Given the description of an element on the screen output the (x, y) to click on. 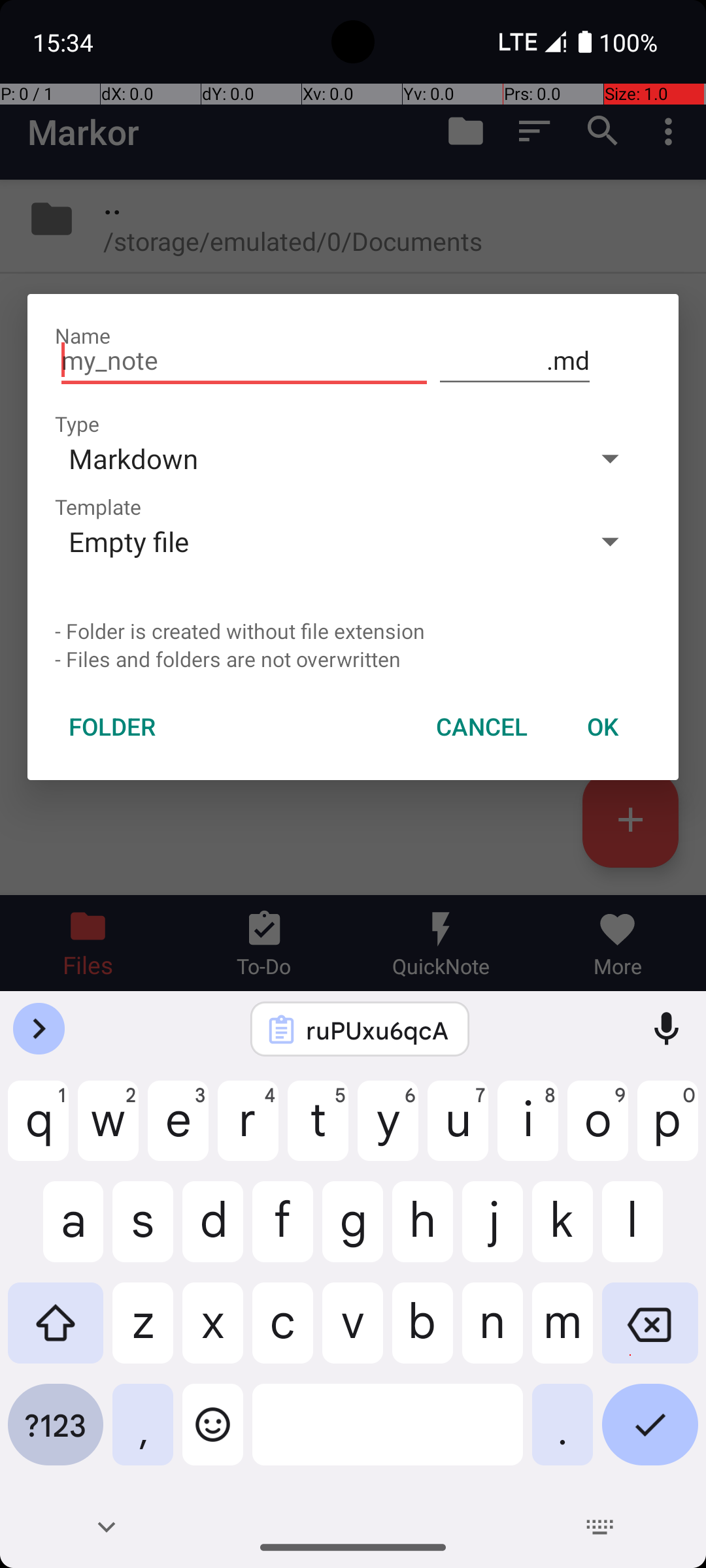
ruPUxu6qcA Element type: android.widget.TextView (376, 1029)
